Given the description of an element on the screen output the (x, y) to click on. 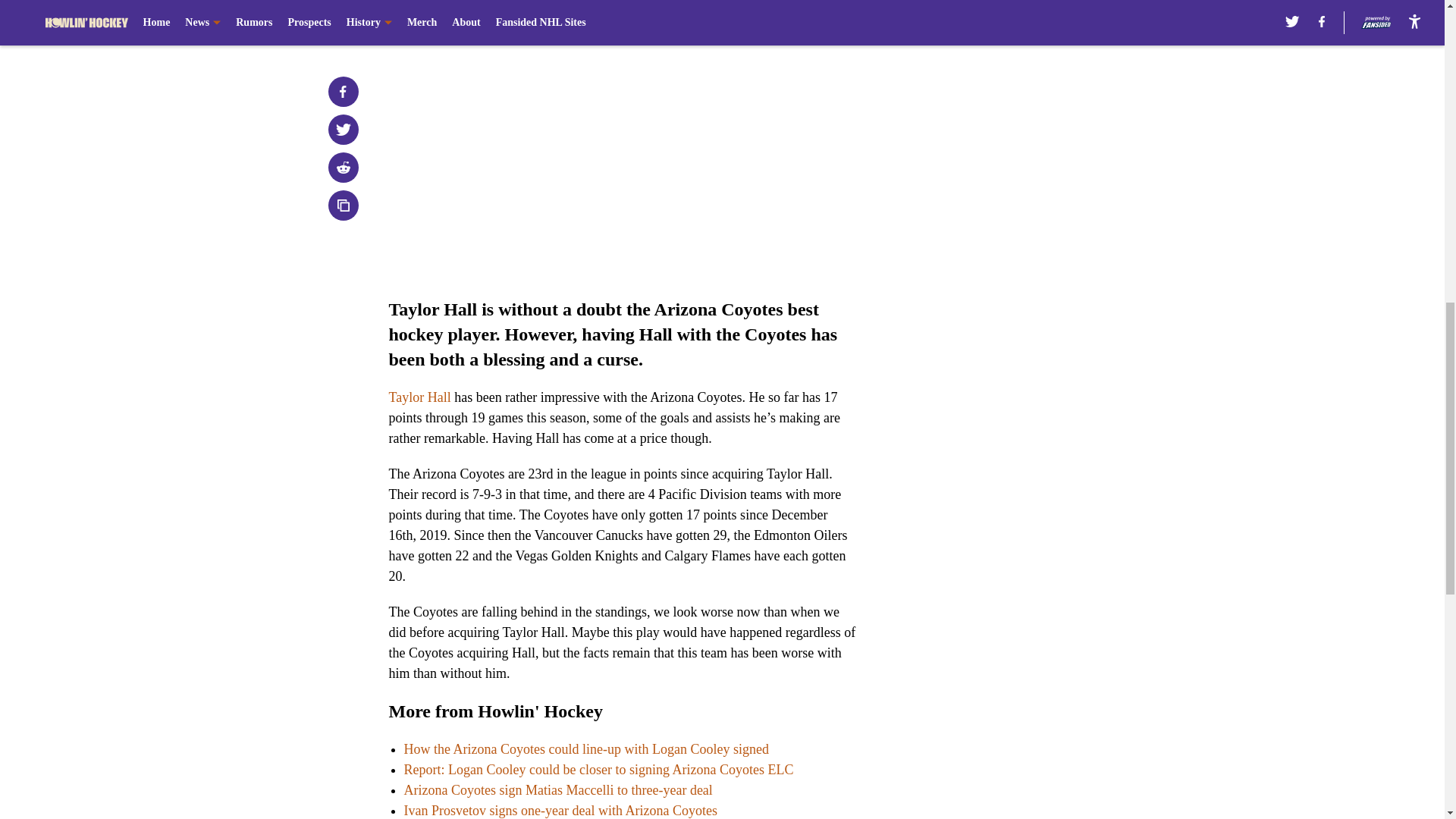
Arizona Coyotes sign Matias Maccelli to three-year deal (557, 789)
Taylor Hall (418, 396)
Ivan Prosvetov signs one-year deal with Arizona Coyotes (559, 810)
